Given the description of an element on the screen output the (x, y) to click on. 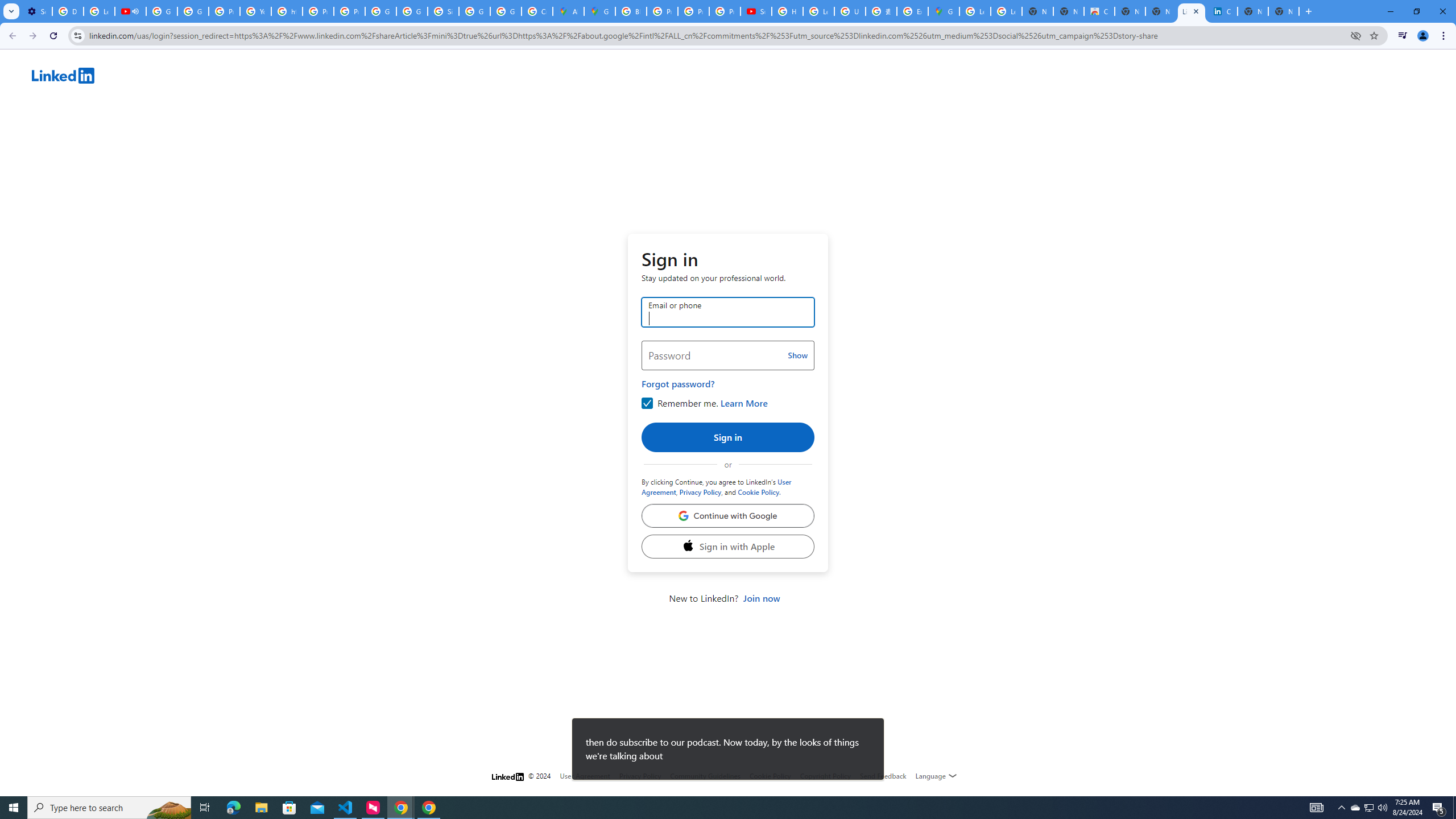
Learn More (743, 402)
